Given the description of an element on the screen output the (x, y) to click on. 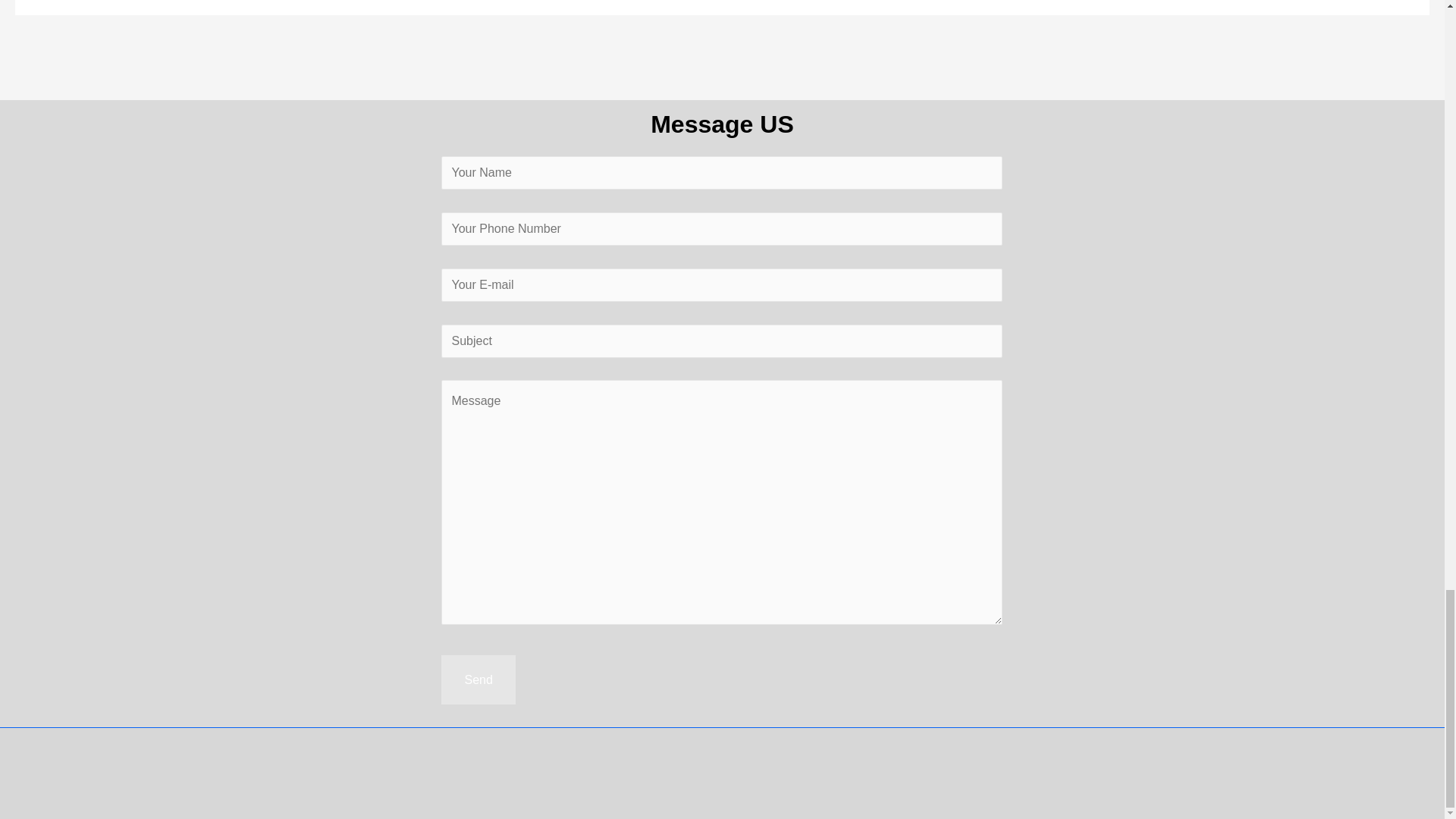
Send (478, 680)
Send (478, 680)
